Given the description of an element on the screen output the (x, y) to click on. 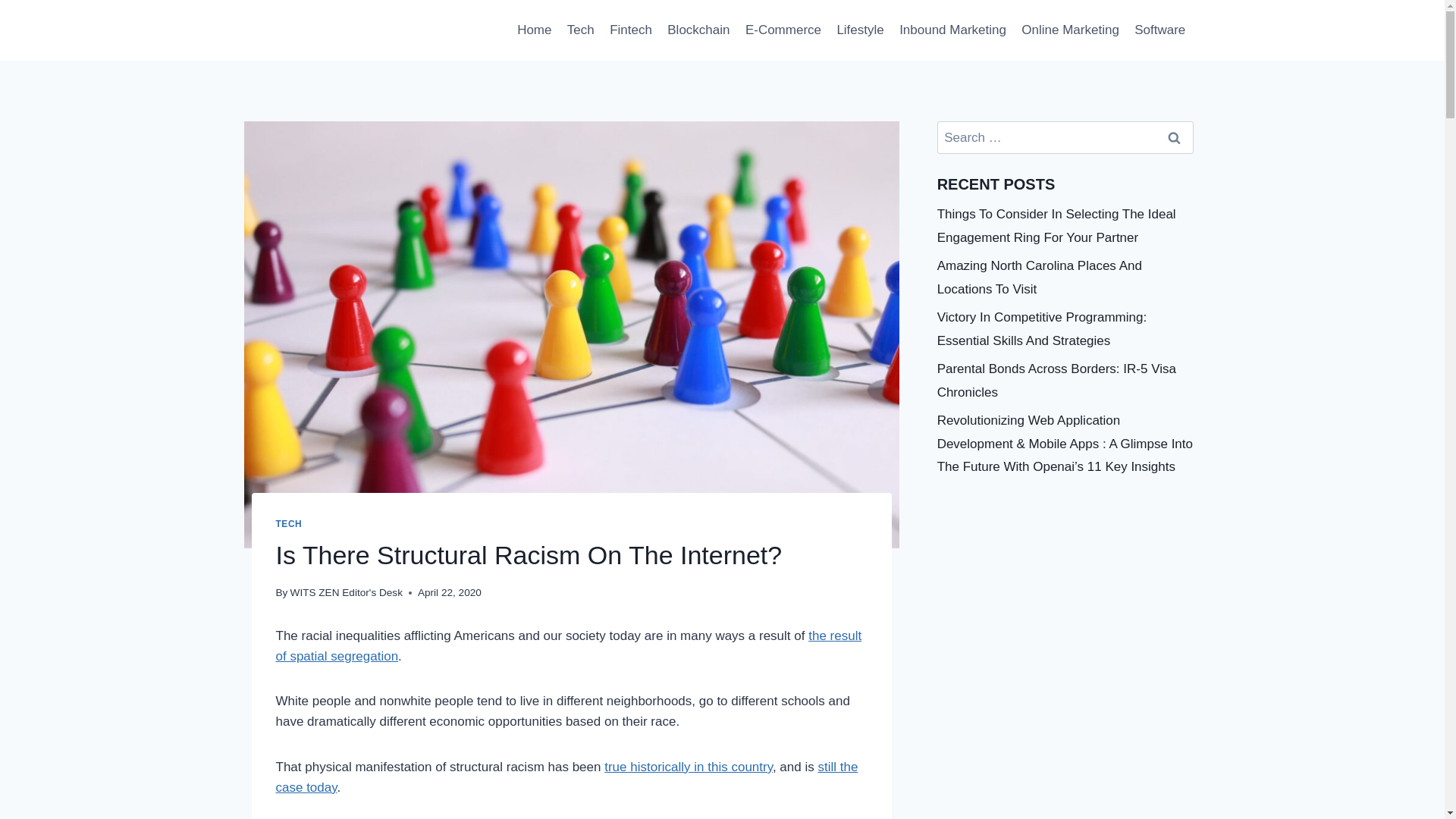
Fintech (630, 30)
Inbound Marketing (952, 30)
Search (1174, 137)
Software (1159, 30)
Home (534, 30)
WITS ZEN Editor's Desk (346, 592)
the result of spatial segregation (568, 645)
TECH (289, 523)
still the case today (567, 777)
Search (1174, 137)
true historically in this country (688, 766)
Tech (580, 30)
Online Marketing (1069, 30)
Blockchain (698, 30)
E-Commerce (783, 30)
